Given the description of an element on the screen output the (x, y) to click on. 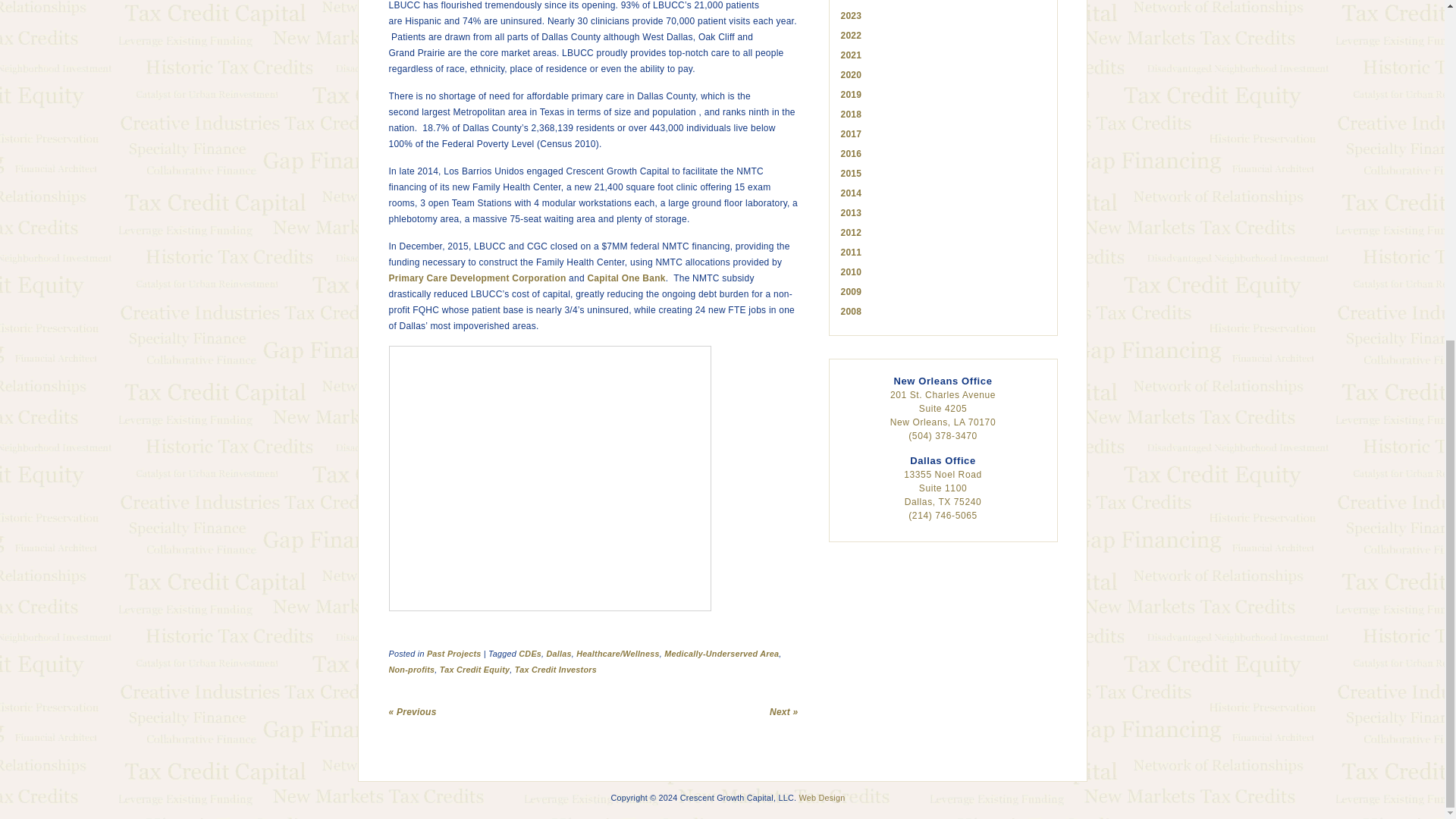
2020 (850, 74)
Medically-Underserved Area (720, 653)
Dallas (559, 653)
Primary Care Development Corporation (477, 277)
2023 (850, 15)
Tax Credit Investors (555, 669)
Capital One Bank (625, 277)
2022 (850, 35)
2024 (850, 0)
2021 (850, 54)
CDEs (529, 653)
Non-profits (410, 669)
Past Projects (453, 653)
Tax Credit Equity (474, 669)
